Given the description of an element on the screen output the (x, y) to click on. 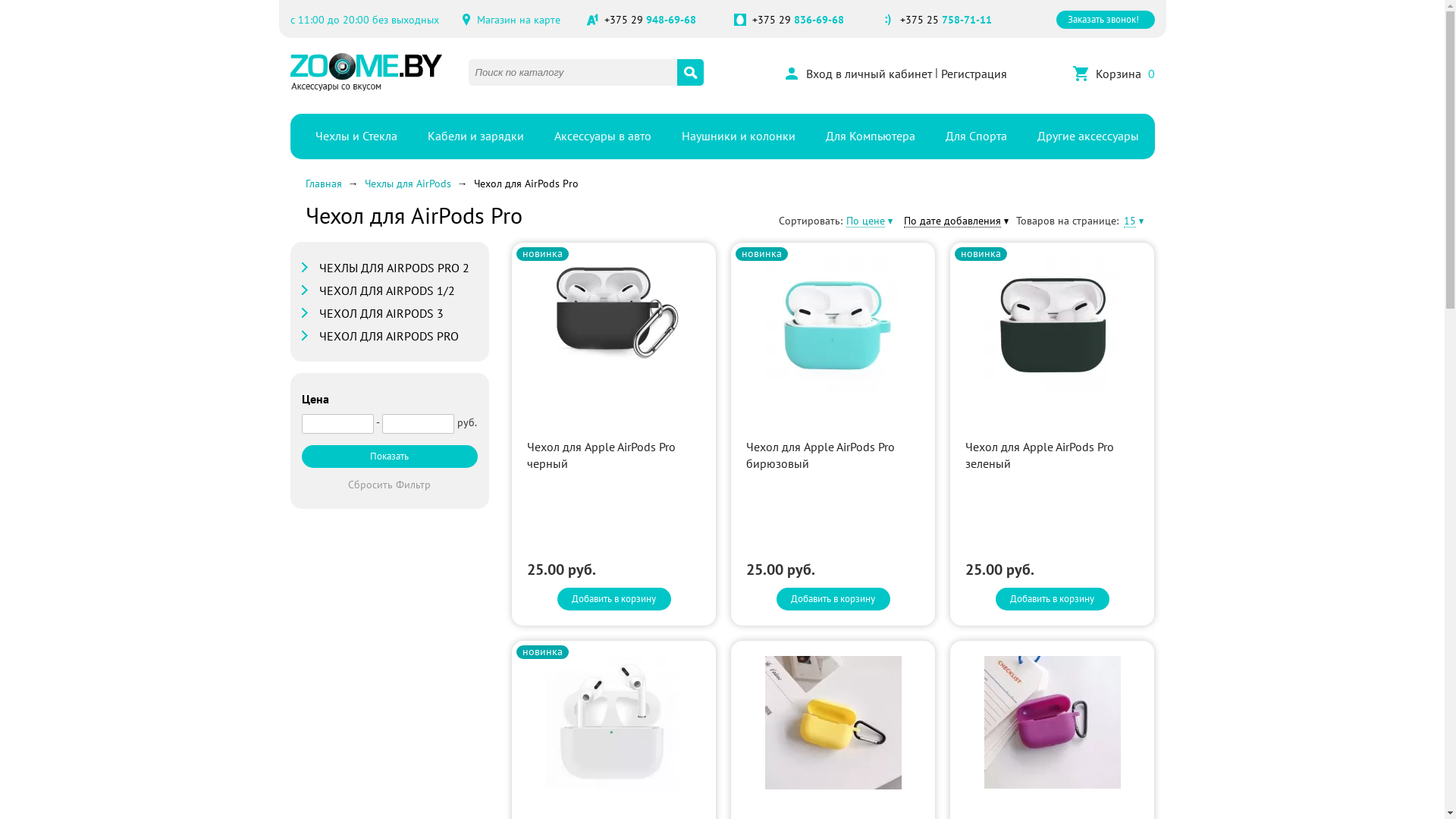
+375 29 836-69-68 Element type: text (798, 19)
+375 29 948-69-68 Element type: text (649, 19)
+375 25 758-71-11 Element type: text (945, 19)
15 Element type: text (1129, 221)
